Given the description of an element on the screen output the (x, y) to click on. 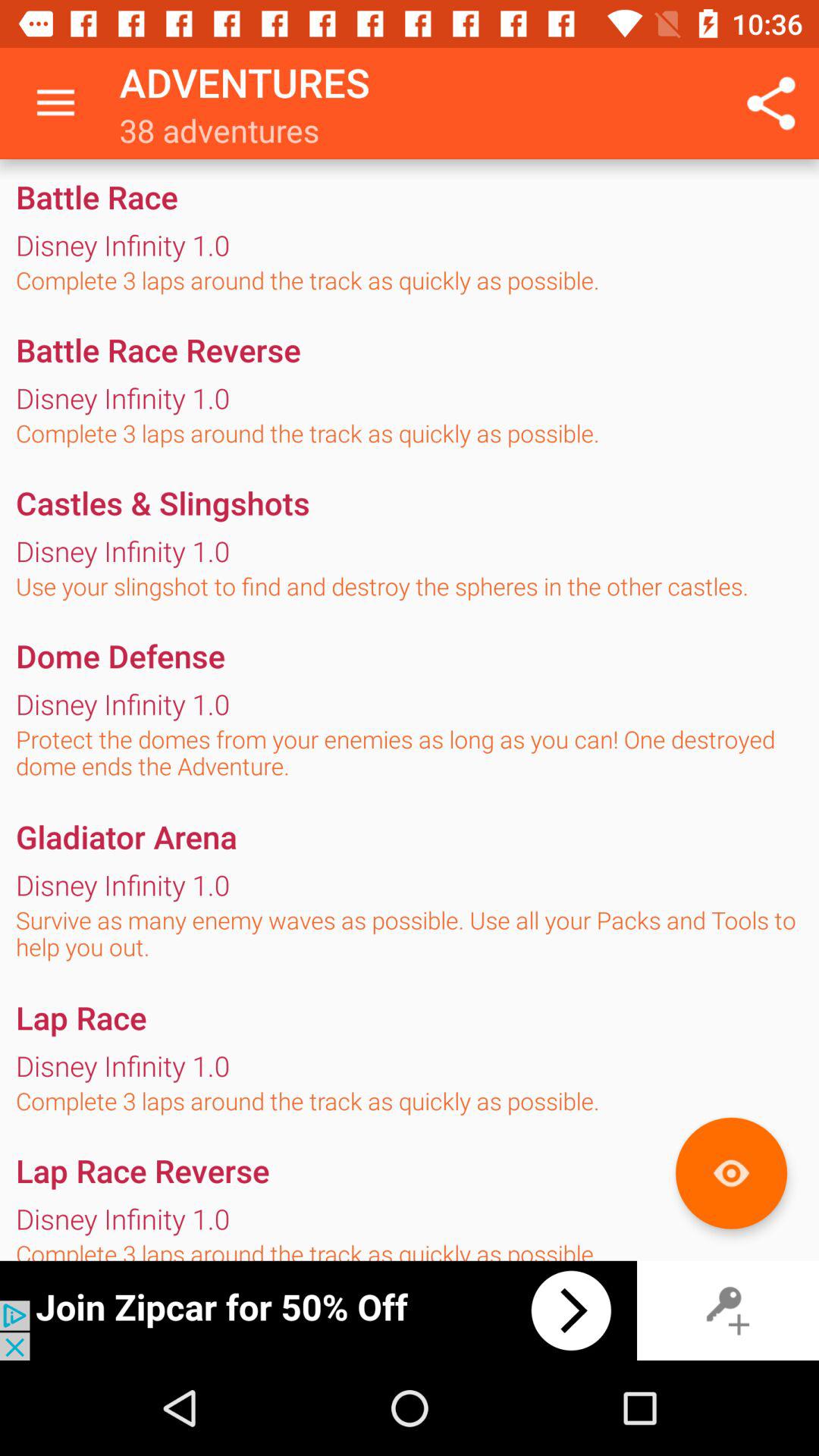
select location (731, 1173)
